Given the description of an element on the screen output the (x, y) to click on. 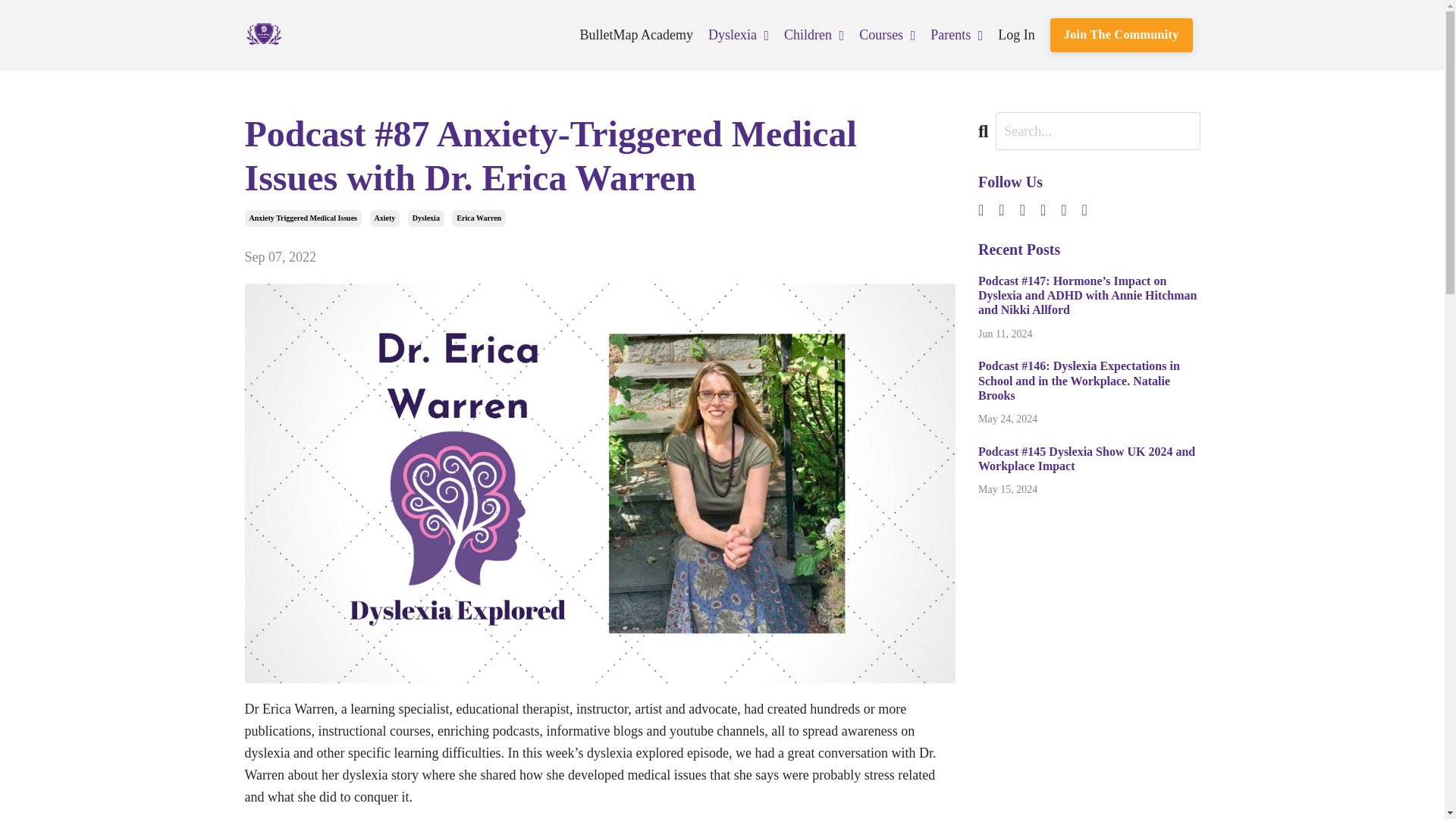
Courses (887, 34)
Parents (956, 34)
Axiety (384, 217)
Erica Warren (478, 217)
BulletMap Academy (636, 34)
Dyslexia (425, 217)
Join The Community (1120, 34)
Log In (1016, 34)
Children (814, 34)
Dyslexia (737, 34)
Anxiety Triggered Medical Issues (302, 217)
